Given the description of an element on the screen output the (x, y) to click on. 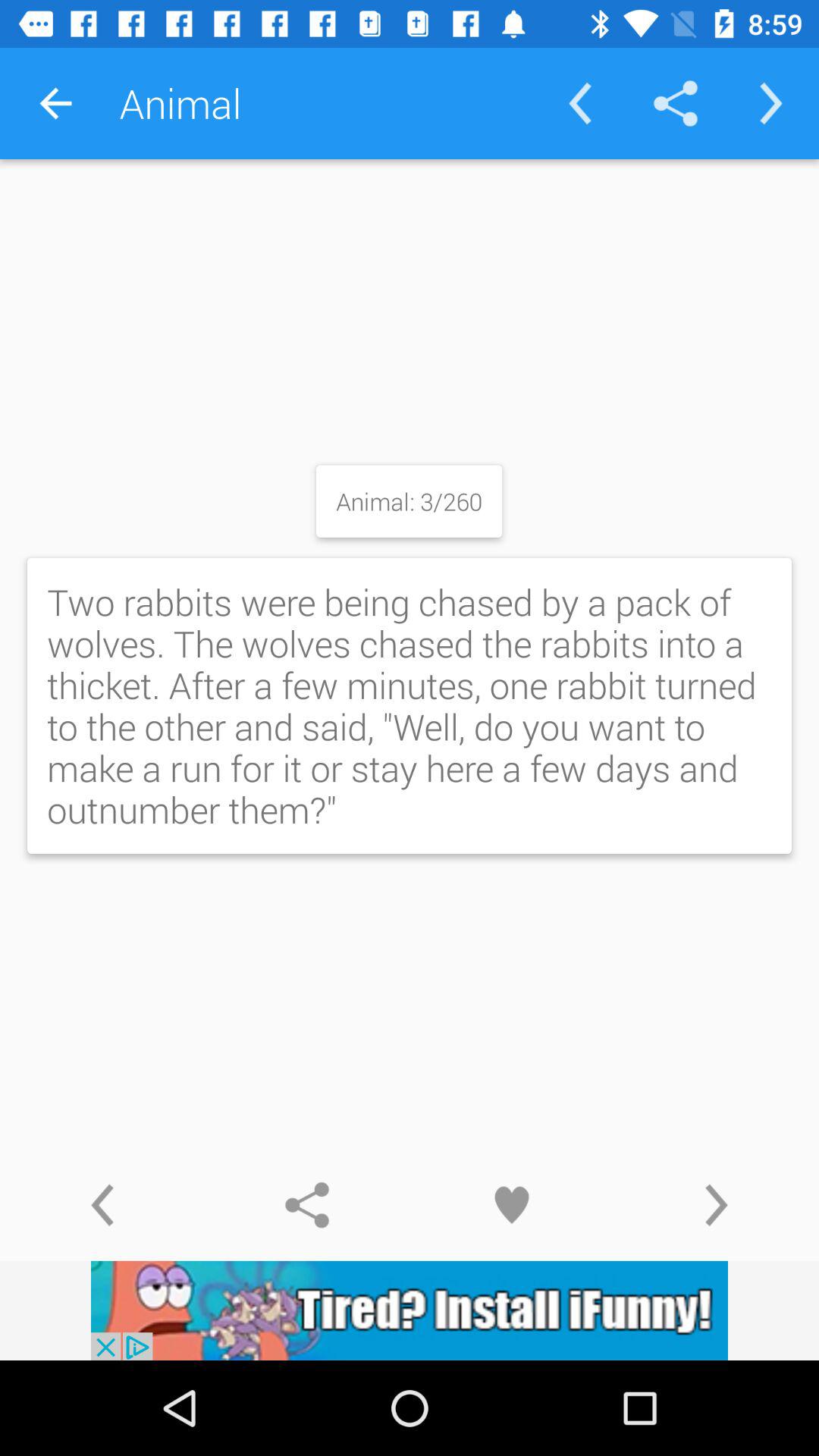
like text (511, 1205)
